Given the description of an element on the screen output the (x, y) to click on. 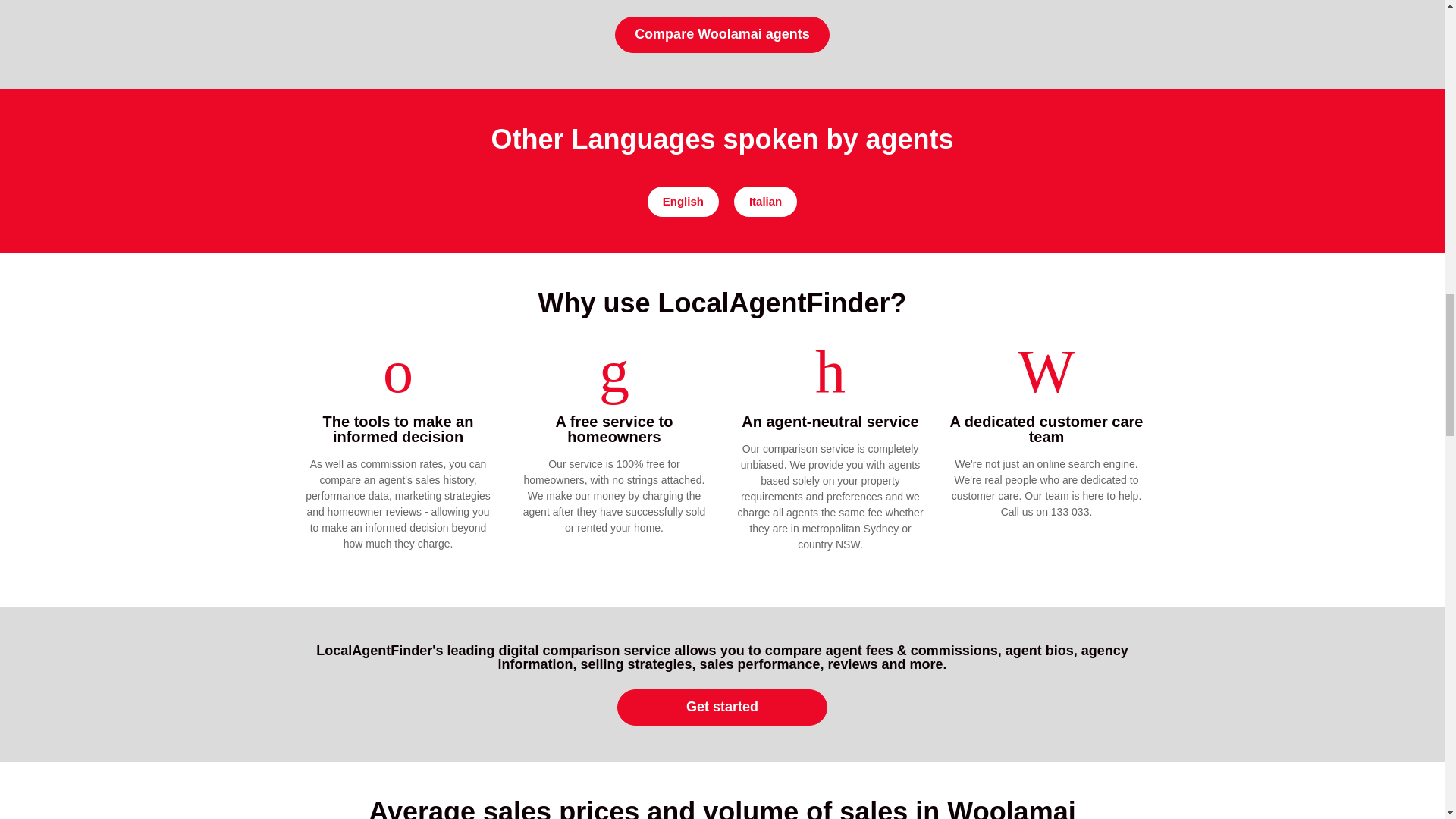
Compare Woolamai agents (721, 34)
Get started (722, 707)
